Given the description of an element on the screen output the (x, y) to click on. 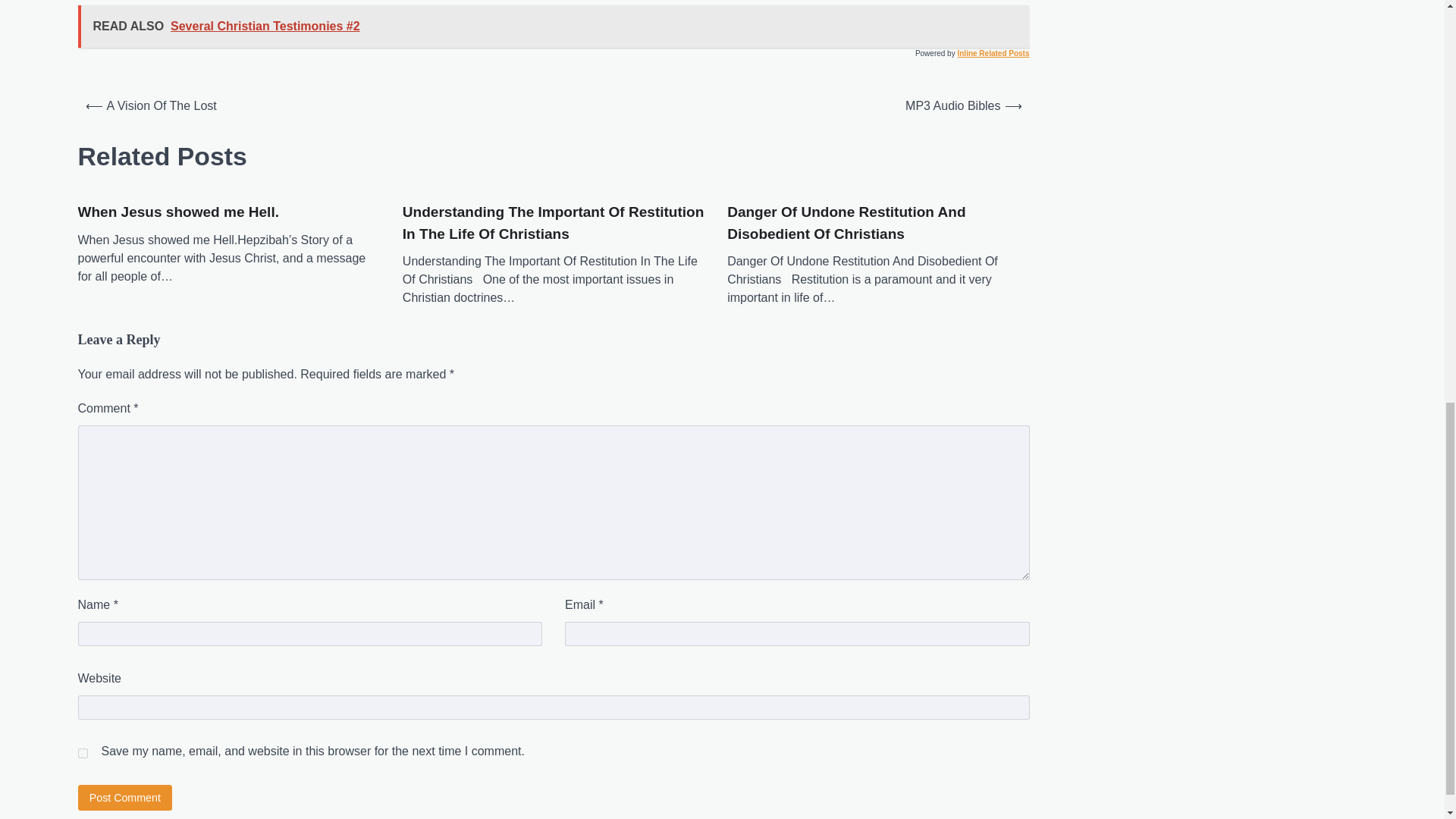
Post Comment (124, 796)
yes (82, 753)
